Given the description of an element on the screen output the (x, y) to click on. 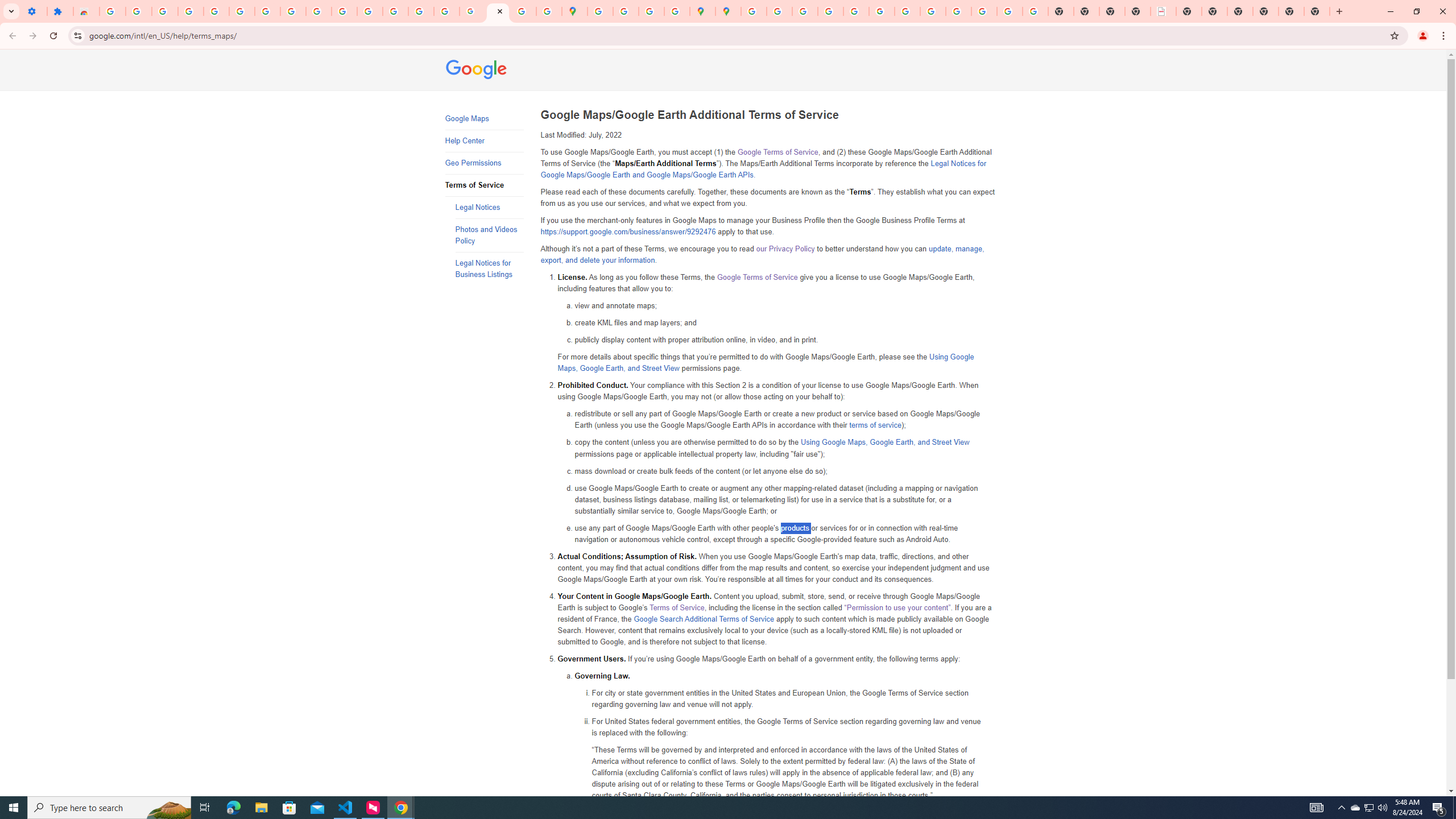
Google Search Additional Terms of Service (703, 618)
New Tab (1239, 11)
Sign in - Google Accounts (242, 11)
Google Account (293, 11)
https://support.google.com/business/answer/9292476 (628, 231)
